Given the description of an element on the screen output the (x, y) to click on. 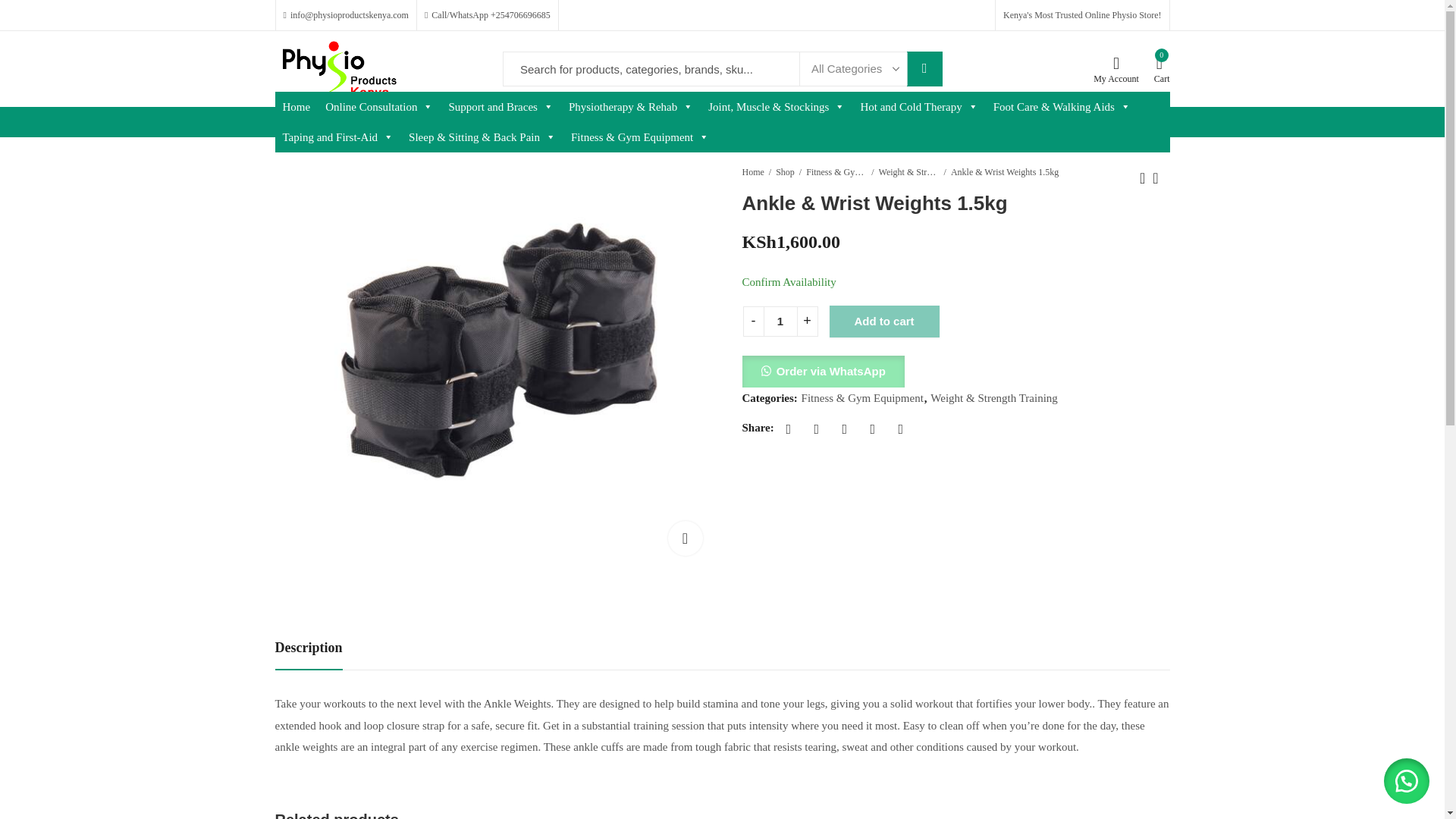
Search (924, 68)
Home (296, 106)
Online Consultation (379, 106)
My Account (1115, 69)
Support and Braces (500, 106)
1 (779, 321)
- (752, 321)
Qty (779, 321)
